Given the description of an element on the screen output the (x, y) to click on. 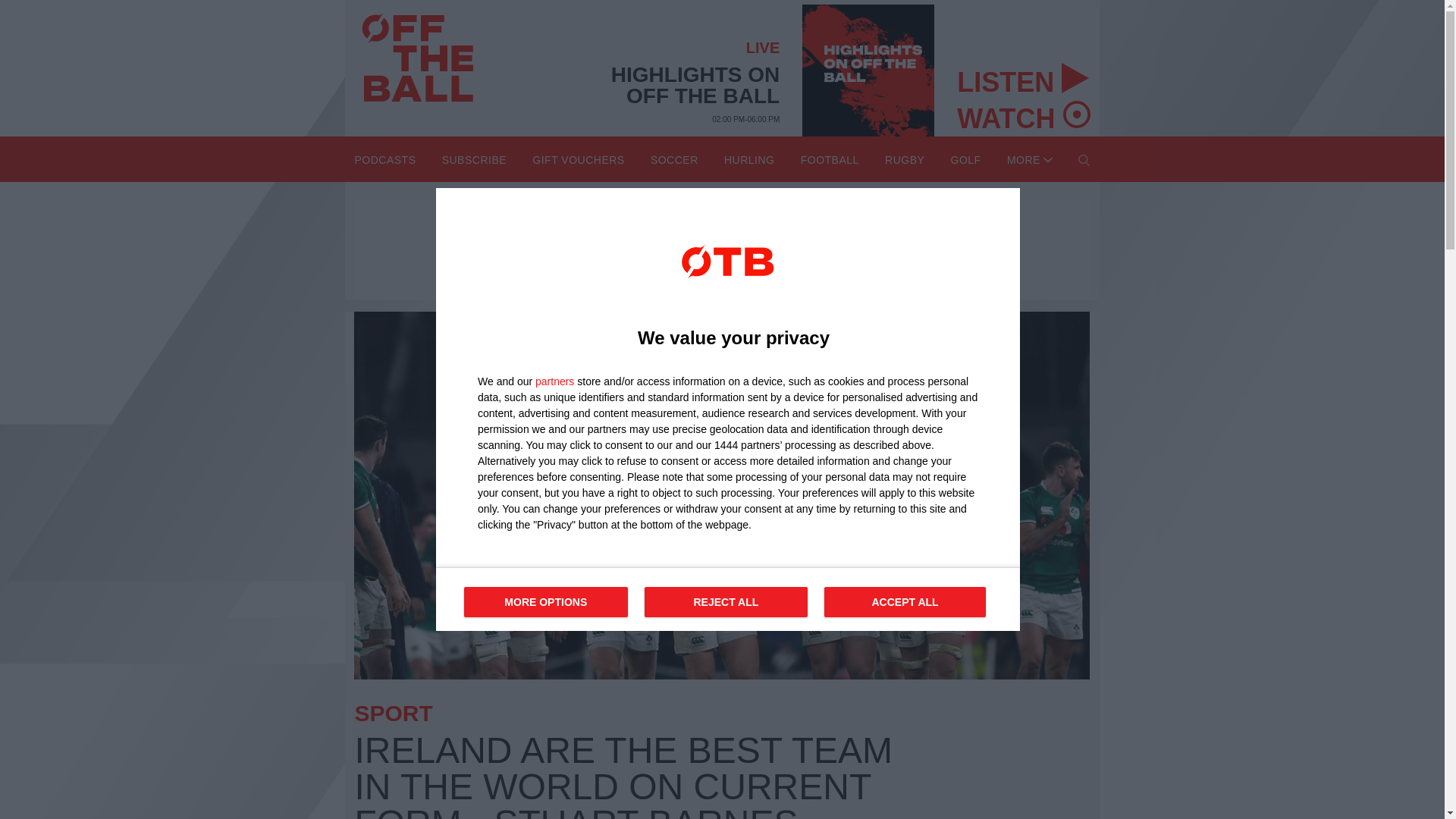
HURLING (748, 158)
Highlights on Off The Ball (727, 598)
Gift vouchers (868, 70)
FOOTBALL (578, 158)
PODCASTS (829, 158)
ACCEPT ALL (383, 158)
SUBSCRIBE (904, 602)
WATCH (474, 158)
LISTEN (1022, 114)
Soccer (1022, 77)
MORE (674, 158)
REJECT ALL (1029, 158)
MORE OPTIONS (726, 602)
Podcasts (545, 602)
